Given the description of an element on the screen output the (x, y) to click on. 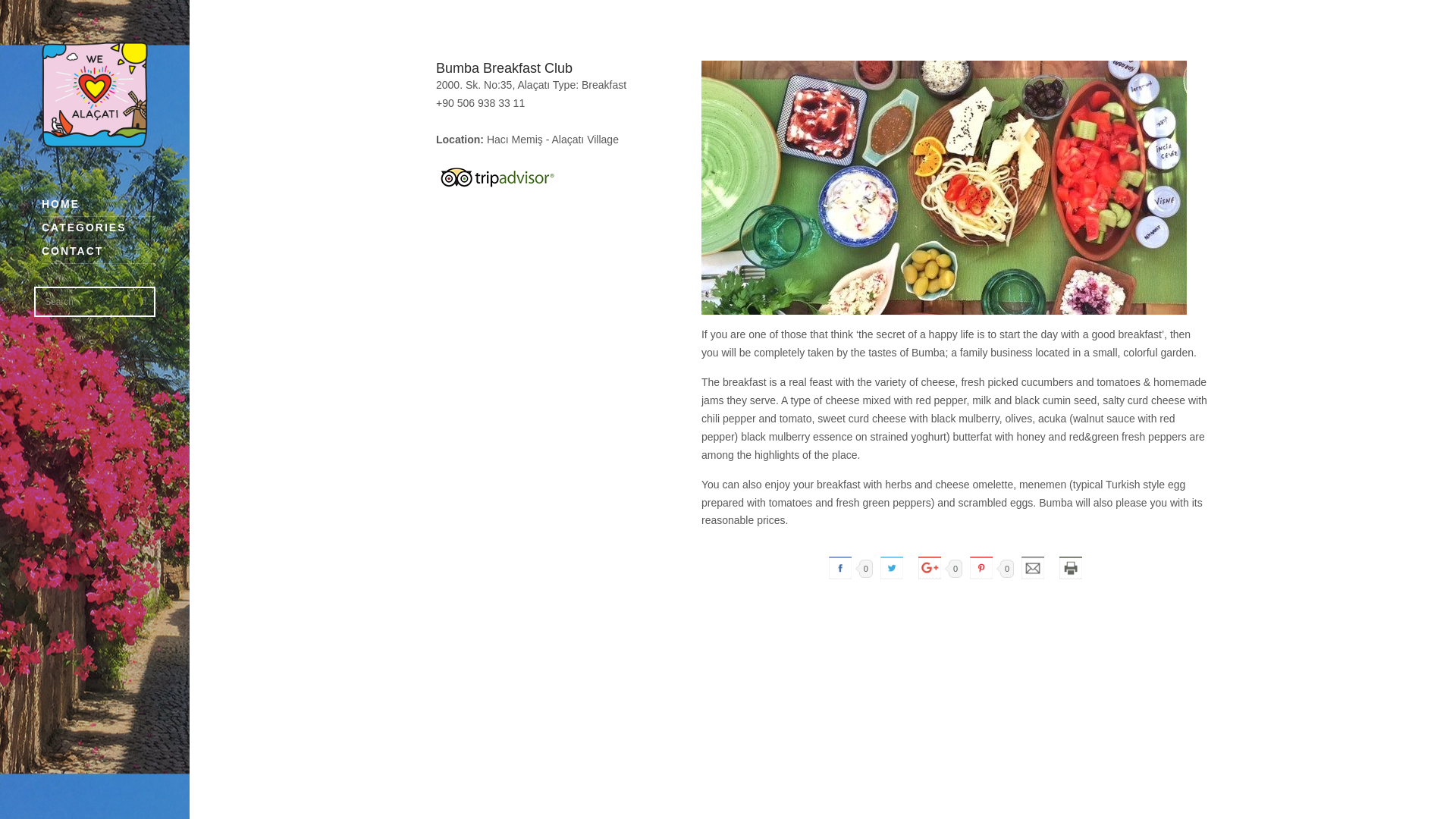
Facebook (840, 567)
Twitter (891, 567)
CATEGORIES (98, 228)
Email (1032, 567)
Print (1070, 567)
CONTACT (98, 251)
Pinterest (981, 567)
HOME (98, 205)
